Given the description of an element on the screen output the (x, y) to click on. 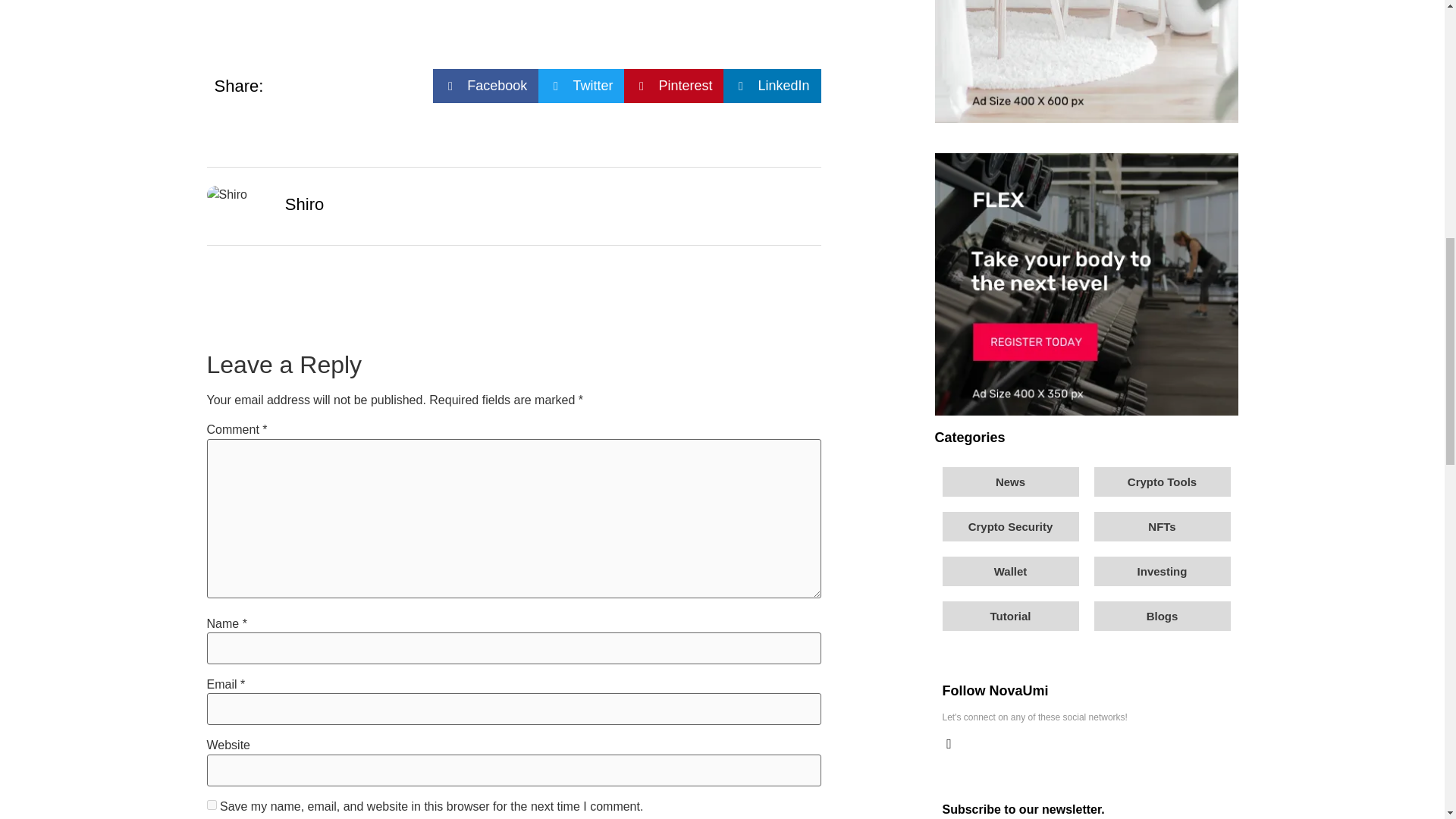
yes (210, 804)
